Given the description of an element on the screen output the (x, y) to click on. 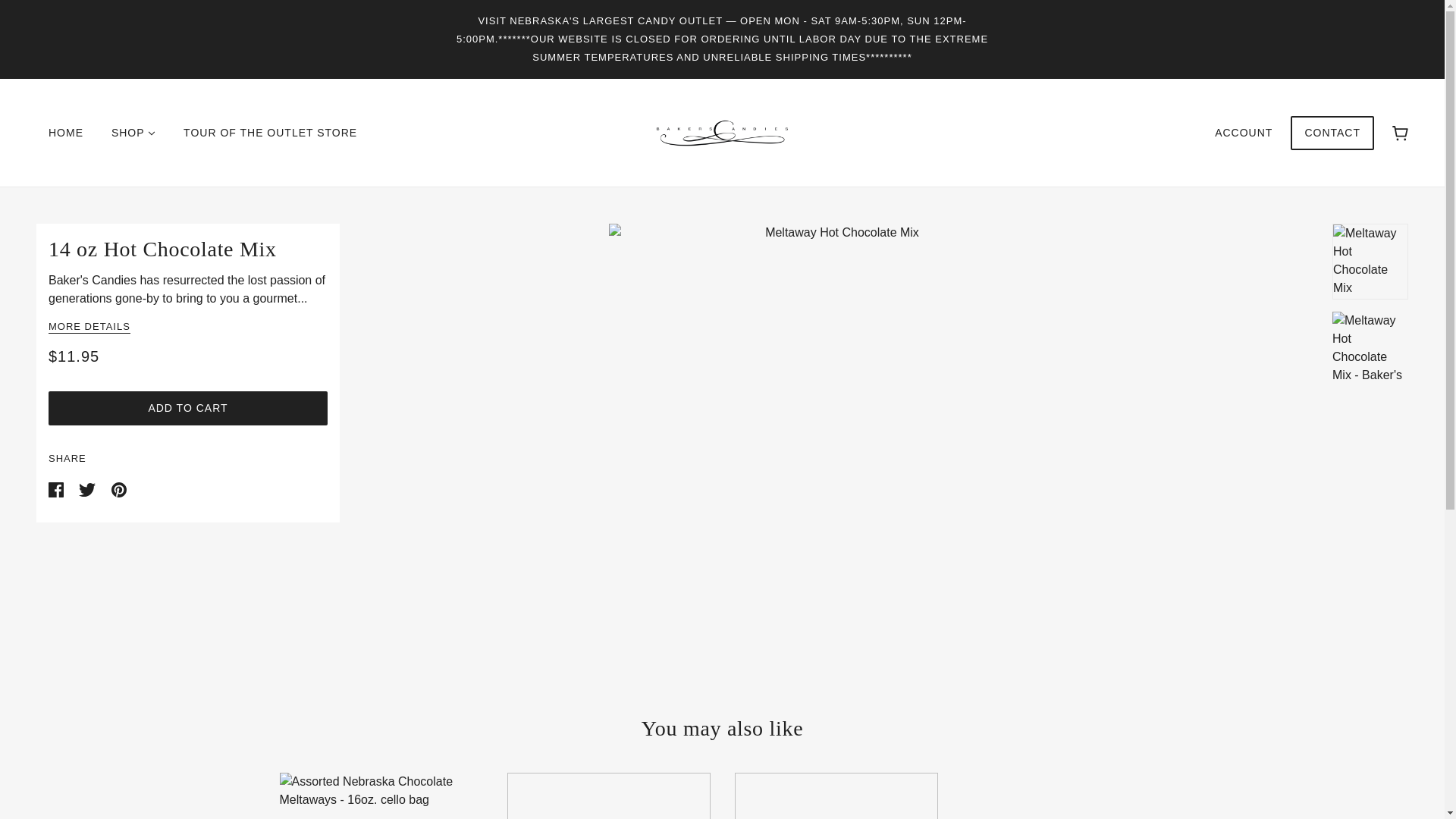
MORE DETAILS (89, 327)
ACCOUNT (1243, 132)
ADD TO CART (187, 408)
HOME (66, 132)
SHOP (133, 132)
TOUR OF THE OUTLET STORE (270, 132)
CONTACT (1332, 139)
